Given the description of an element on the screen output the (x, y) to click on. 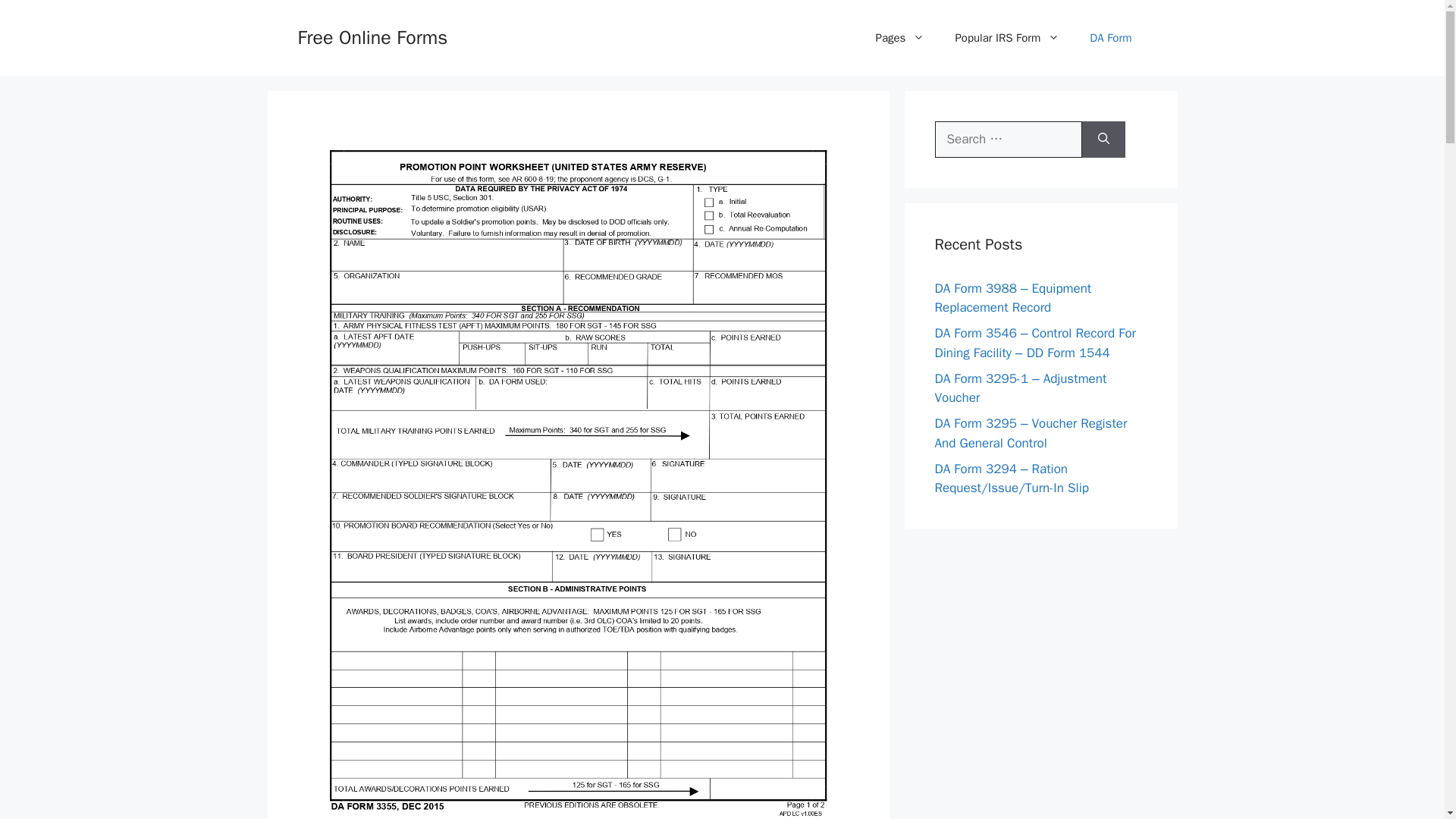
Pages (900, 37)
Popular IRS Form (1006, 37)
Free Online Forms (371, 37)
Search for: (1007, 139)
DA Form (1110, 37)
